Given the description of an element on the screen output the (x, y) to click on. 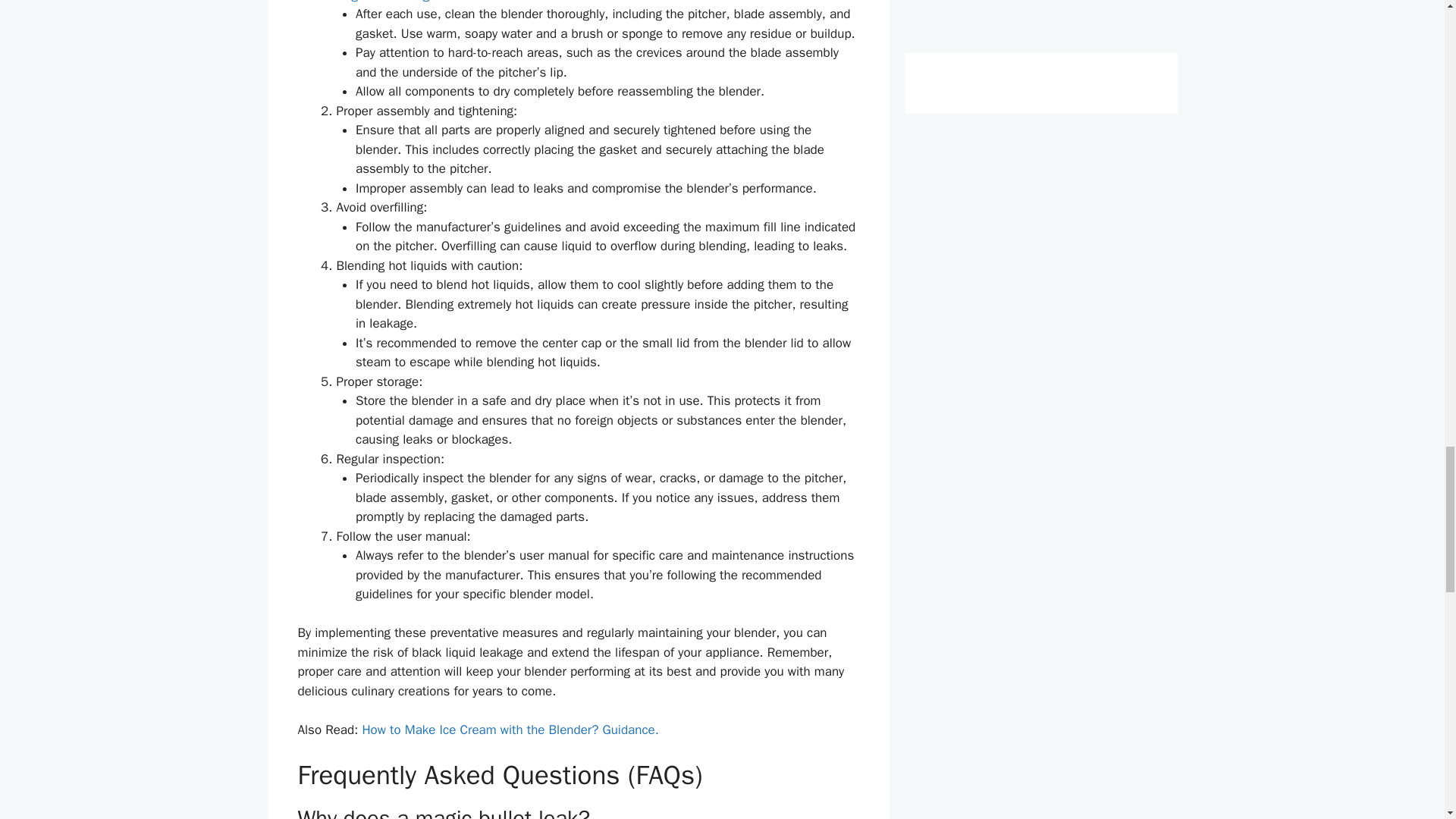
Regular cleaning (382, 1)
How to Make Ice Cream with the Blender? Guidance. (509, 729)
